Given the description of an element on the screen output the (x, y) to click on. 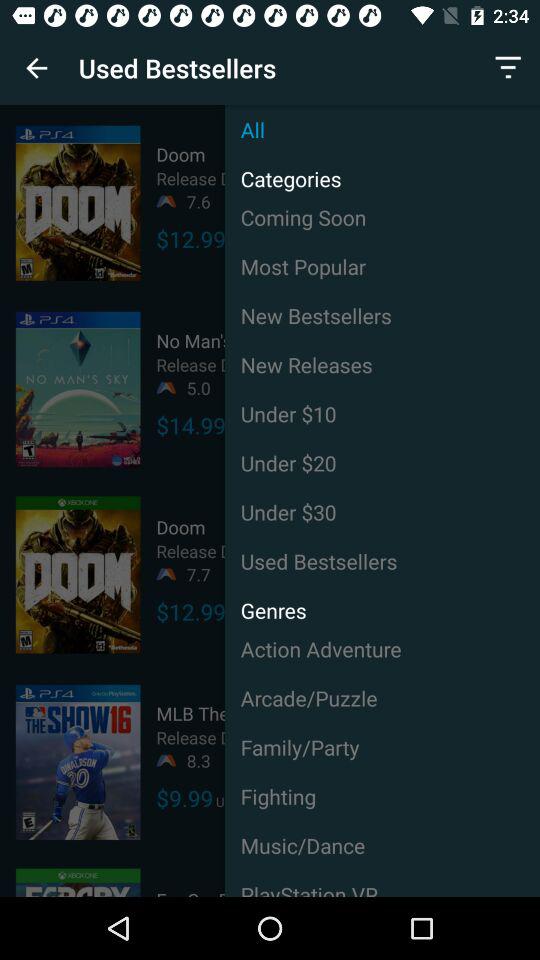
tap item next to $9.99 (382, 796)
